Given the description of an element on the screen output the (x, y) to click on. 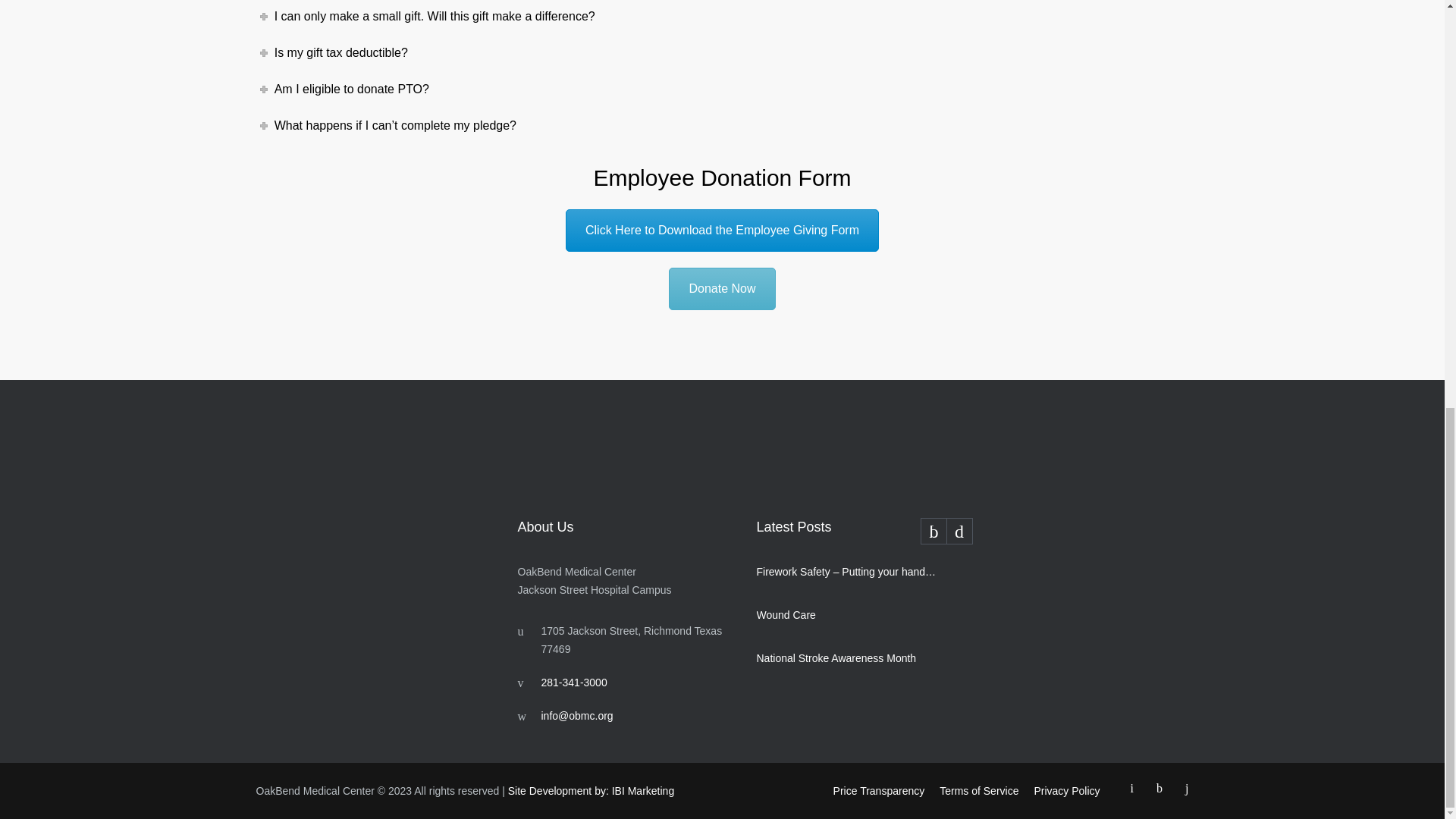
Wound Care (848, 615)
IBI Marketing (591, 790)
National Stroke Awareness Month (848, 658)
Latest Posts (864, 530)
